Given the description of an element on the screen output the (x, y) to click on. 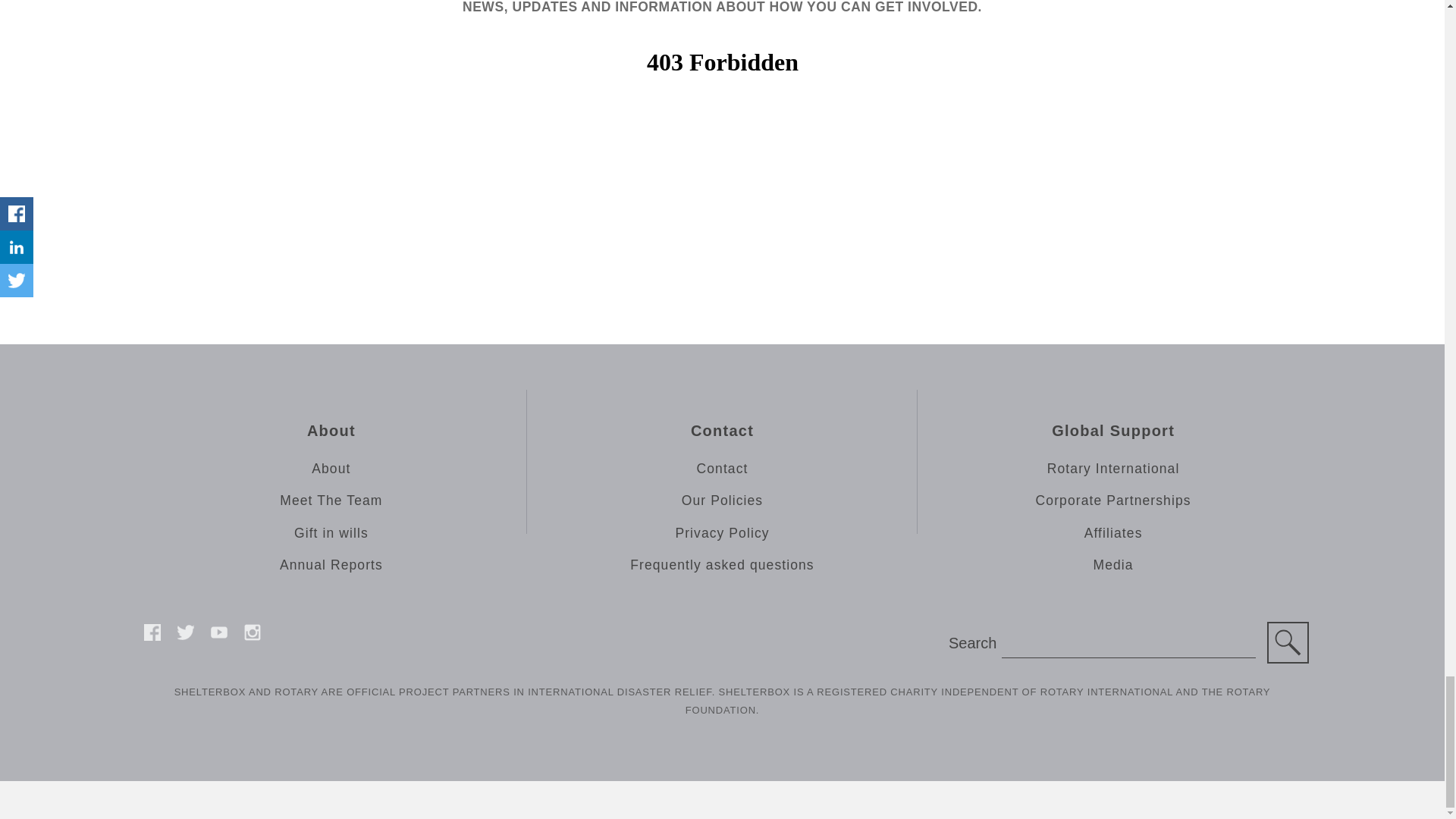
Meet The Team (331, 500)
About (331, 468)
Search (1287, 641)
Gift in wills (331, 532)
